Given the description of an element on the screen output the (x, y) to click on. 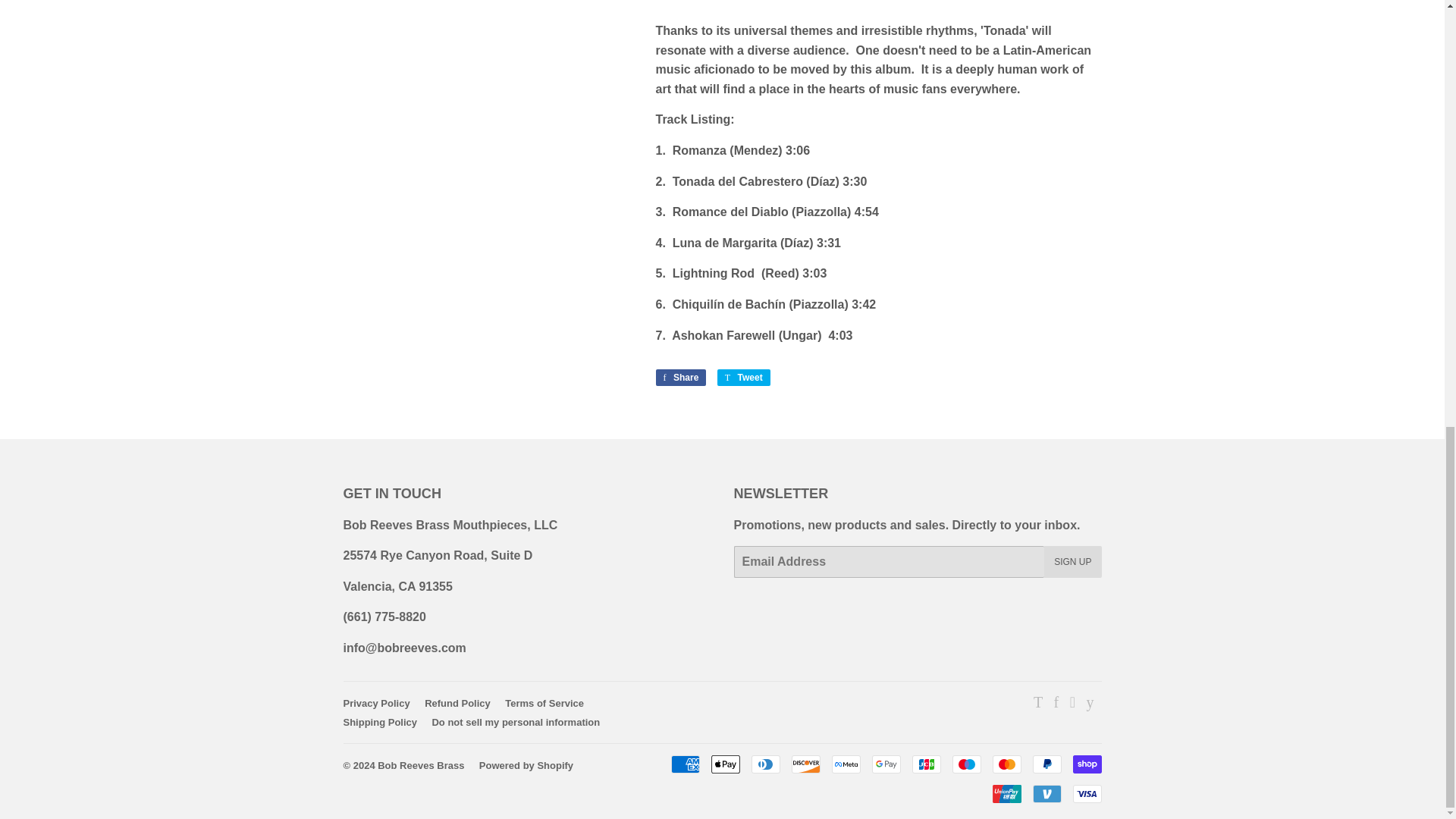
Meta Pay (845, 764)
Union Pay (1005, 793)
Visa (1085, 793)
Maestro (966, 764)
Discover (806, 764)
Apple Pay (725, 764)
Share on Facebook (680, 377)
Tweet on Twitter (743, 377)
JCB (925, 764)
PayPal (1046, 764)
